Given the description of an element on the screen output the (x, y) to click on. 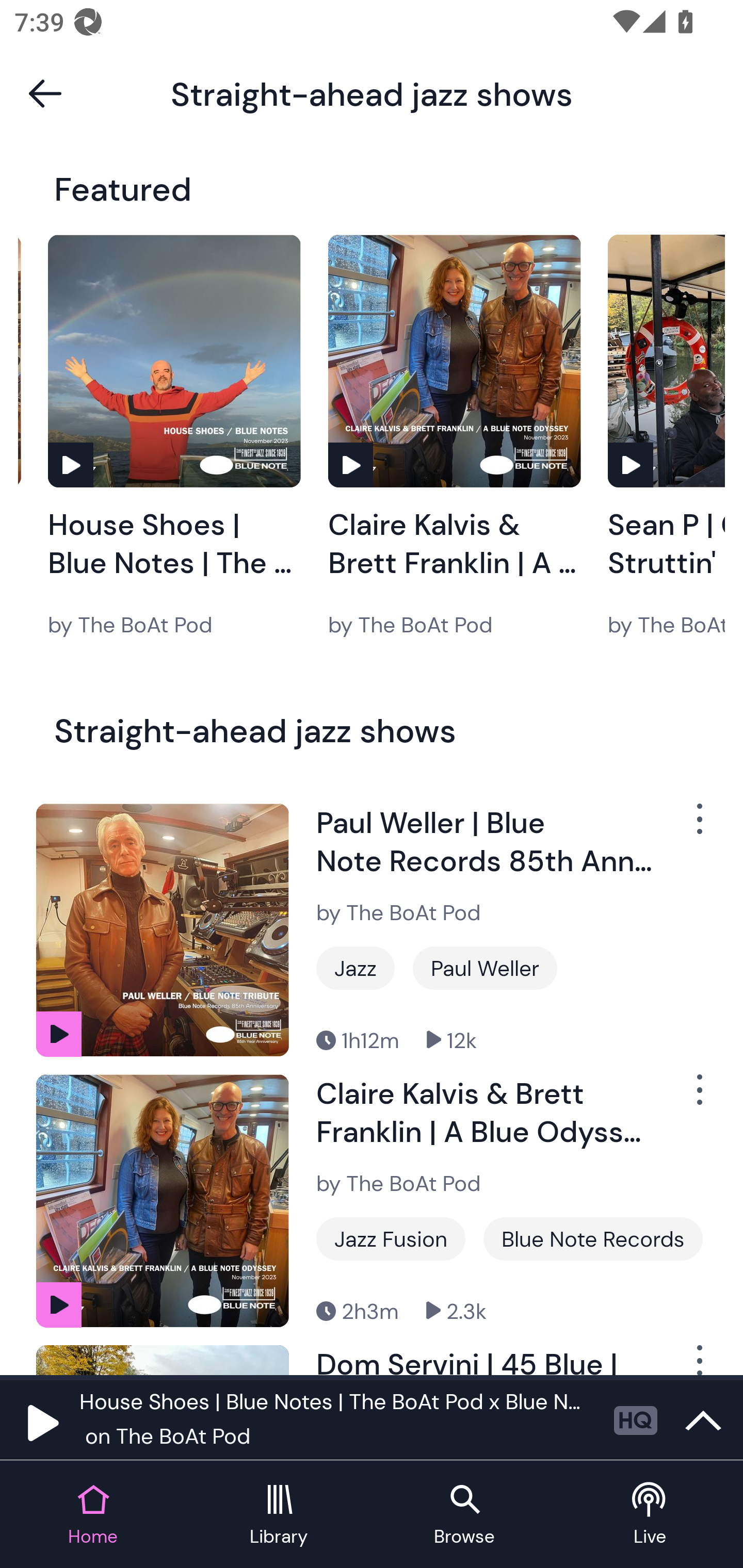
Show Options Menu Button (697, 825)
Jazz (355, 968)
Paul Weller (485, 968)
Show Options Menu Button (697, 1097)
Jazz Fusion (390, 1238)
Blue Note Records (592, 1238)
Show Options Menu Button (697, 1360)
Home tab Home (92, 1515)
Library tab Library (278, 1515)
Browse tab Browse (464, 1515)
Live tab Live (650, 1515)
